Given the description of an element on the screen output the (x, y) to click on. 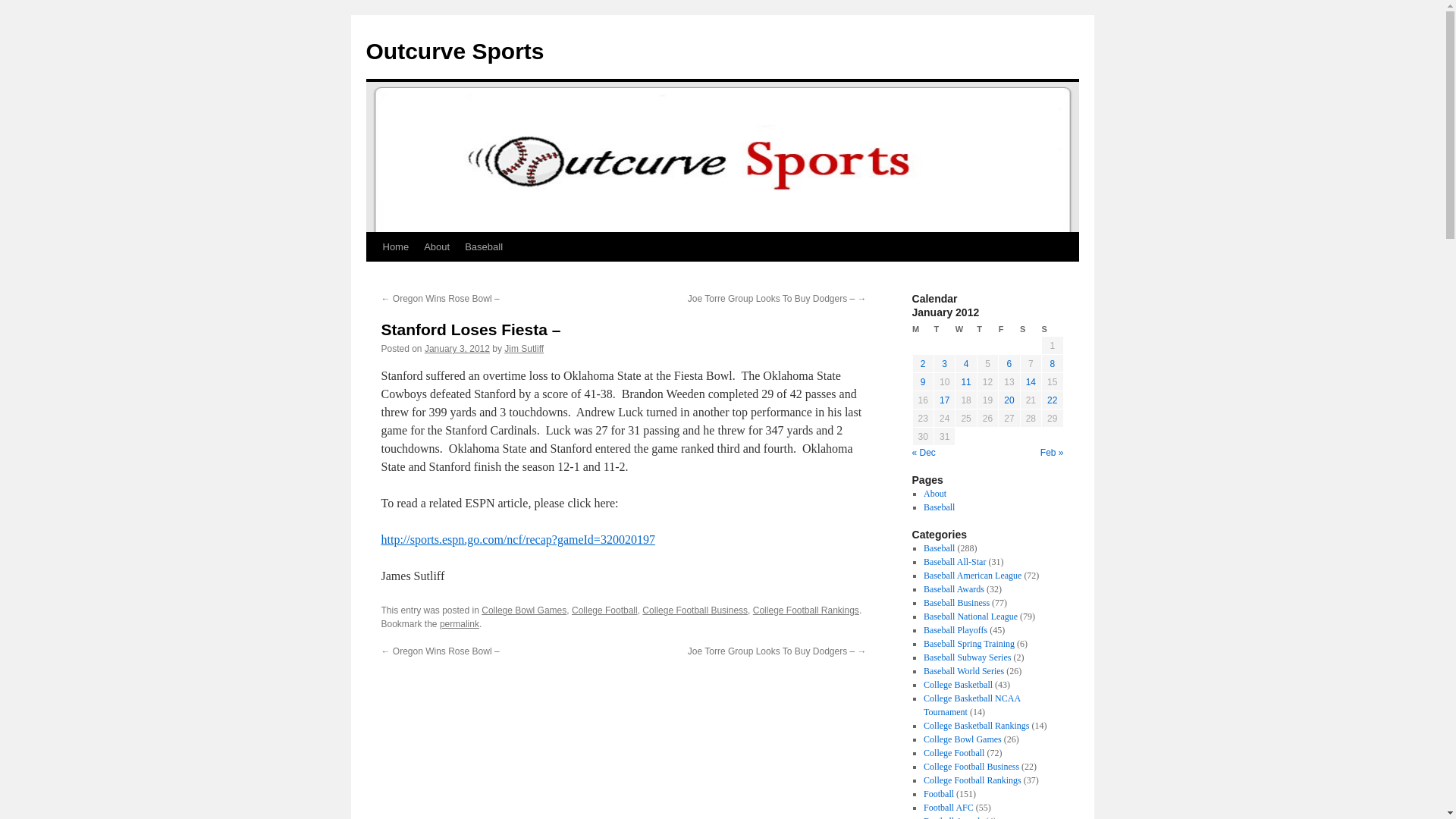
College Football Business (695, 610)
Baseball (939, 547)
Baseball Playoffs (955, 629)
permalink (459, 624)
College Football Rankings (805, 610)
Jim Sutliff (523, 348)
11 (965, 381)
Wednesday (965, 329)
1:01 pm (457, 348)
Baseball All-Star (954, 561)
